Given the description of an element on the screen output the (x, y) to click on. 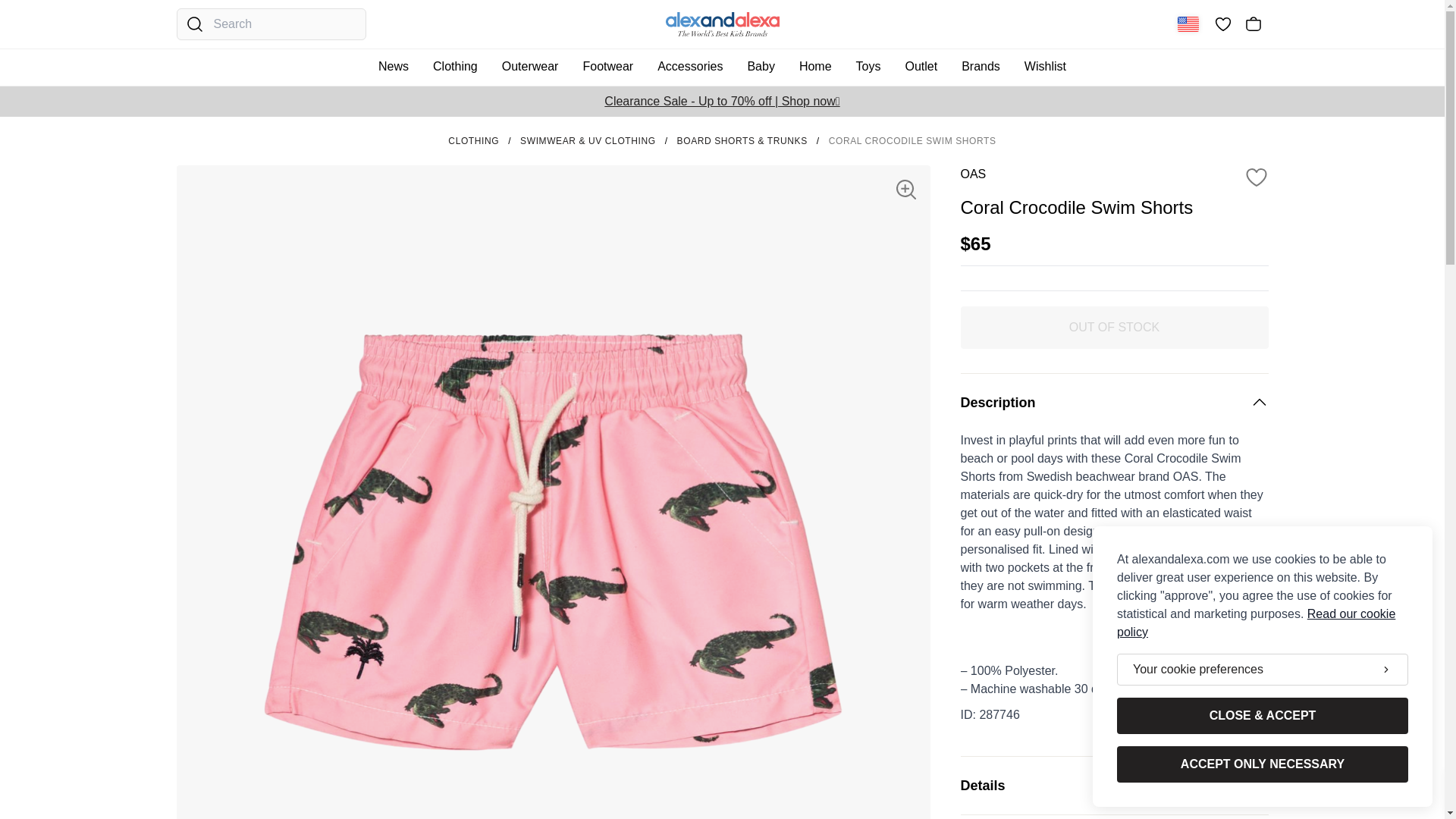
Outerwear (530, 67)
Accessories (689, 67)
Outlet (920, 67)
Brands (980, 67)
Clothing (454, 67)
Footwear (607, 67)
Home (815, 67)
News (393, 67)
Baby (760, 67)
Wishlist (1045, 67)
